Given the description of an element on the screen output the (x, y) to click on. 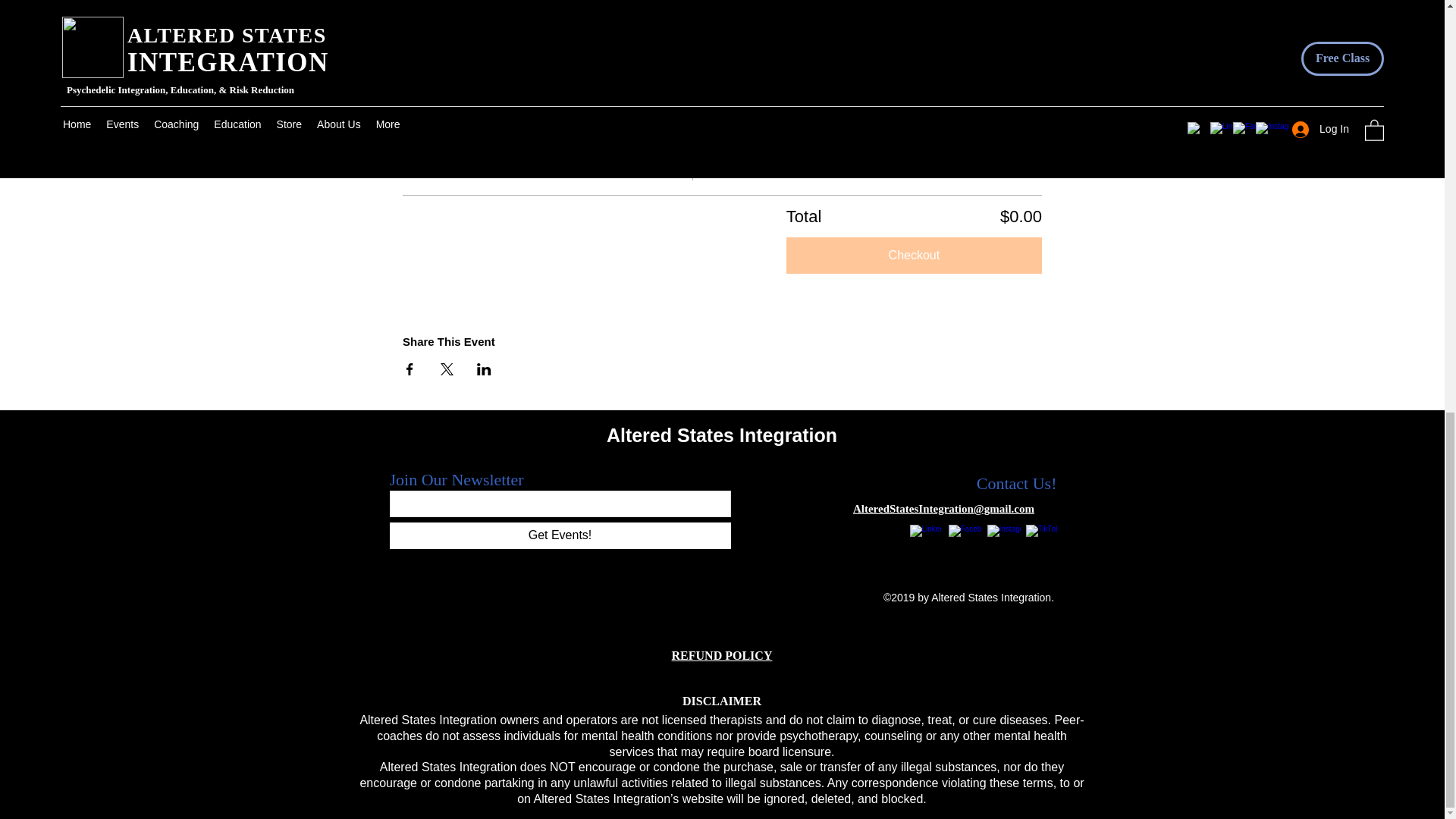
Get Events! (560, 535)
Checkout (914, 255)
REFUND POLICY (722, 655)
